Given the description of an element on the screen output the (x, y) to click on. 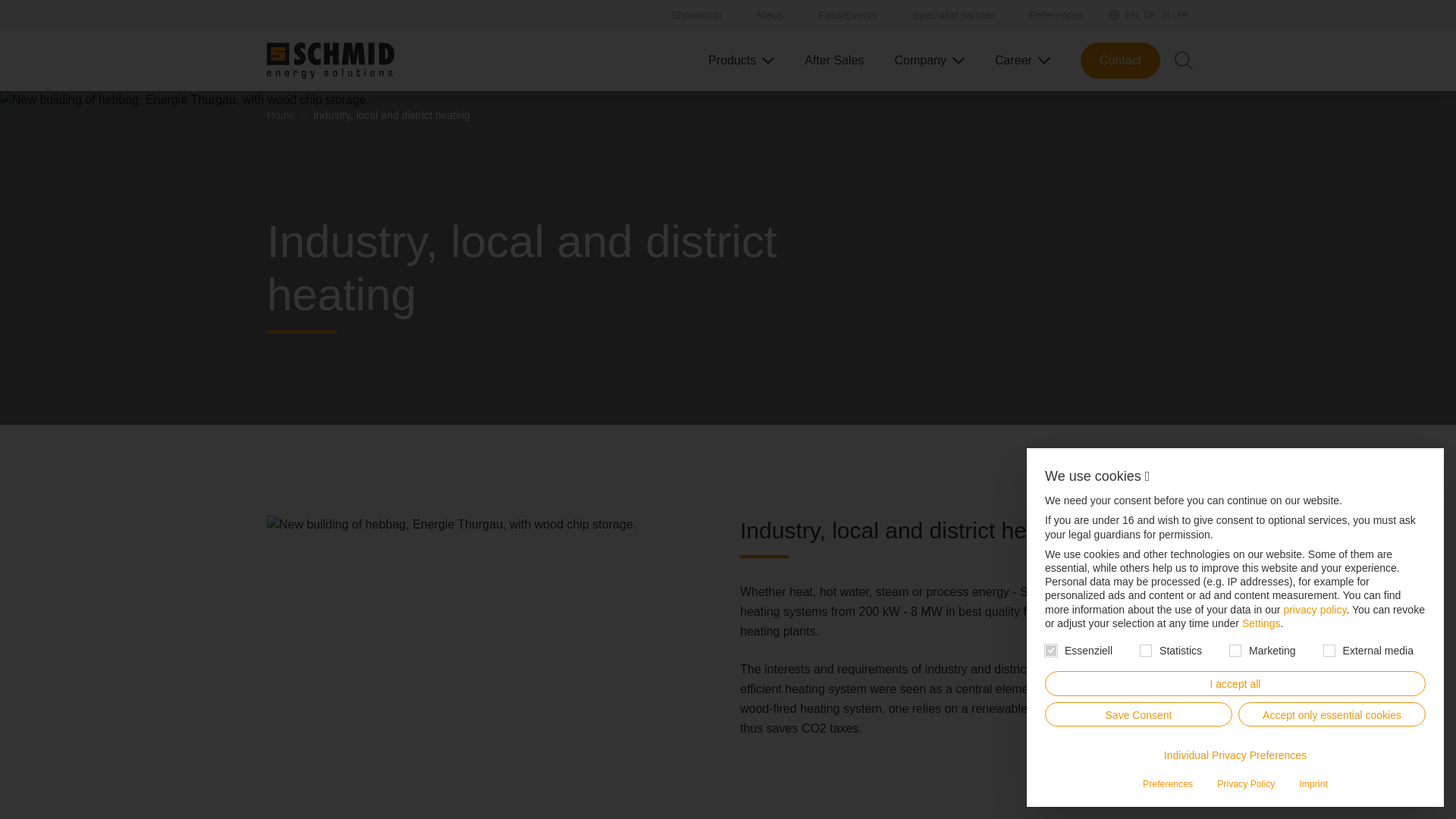
After Sales (827, 60)
Specialist partner (938, 15)
Contact (1120, 60)
on (1234, 650)
Showroom (681, 15)
on (1051, 650)
Deutsch (1150, 14)
News (754, 15)
on (1145, 650)
To the home page (330, 60)
English (1131, 15)
DE (1150, 14)
References (1040, 15)
FR (1182, 14)
on (1329, 650)
